Given the description of an element on the screen output the (x, y) to click on. 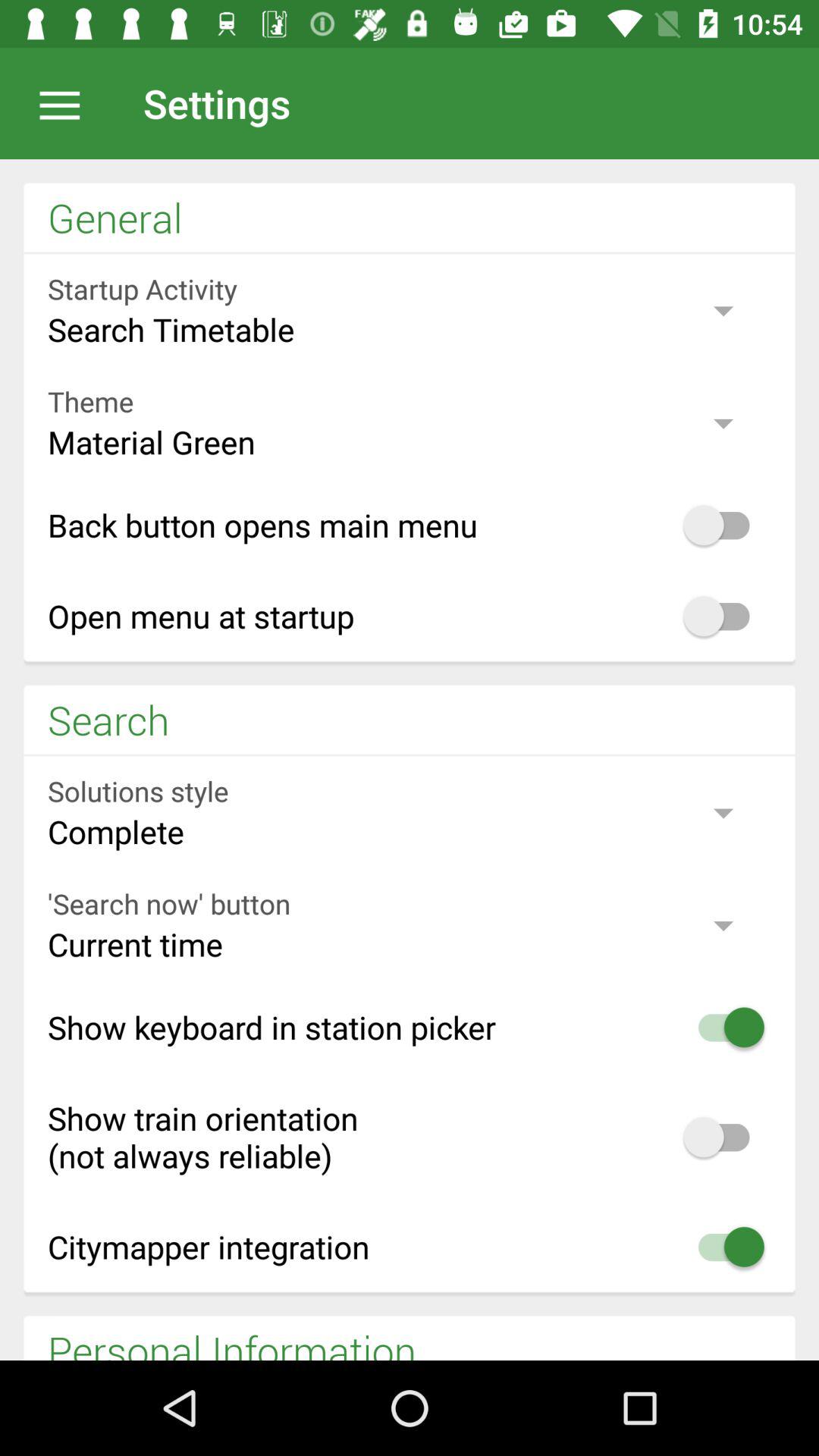
click for flyout (67, 103)
